Given the description of an element on the screen output the (x, y) to click on. 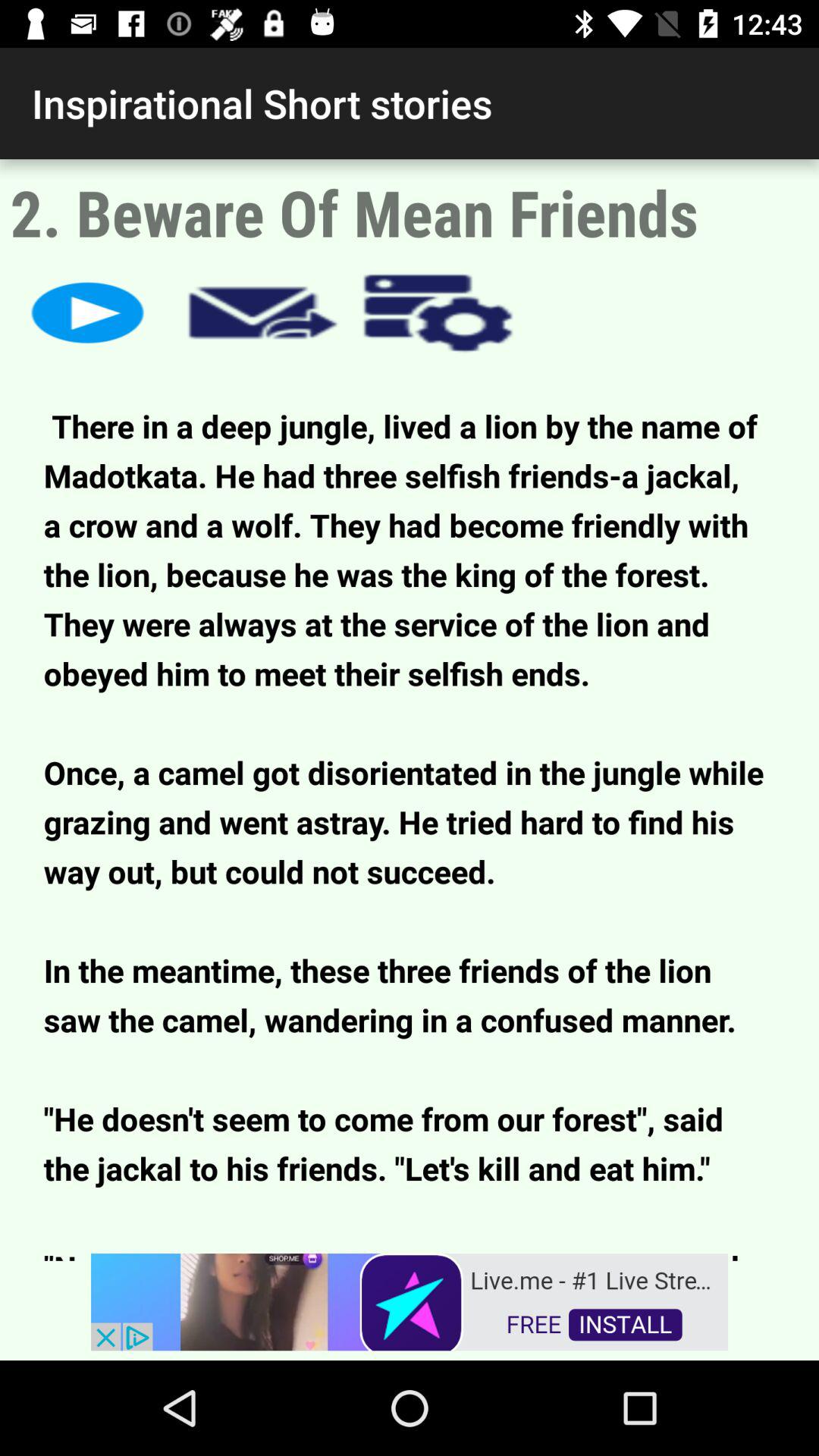
open options (437, 312)
